Given the description of an element on the screen output the (x, y) to click on. 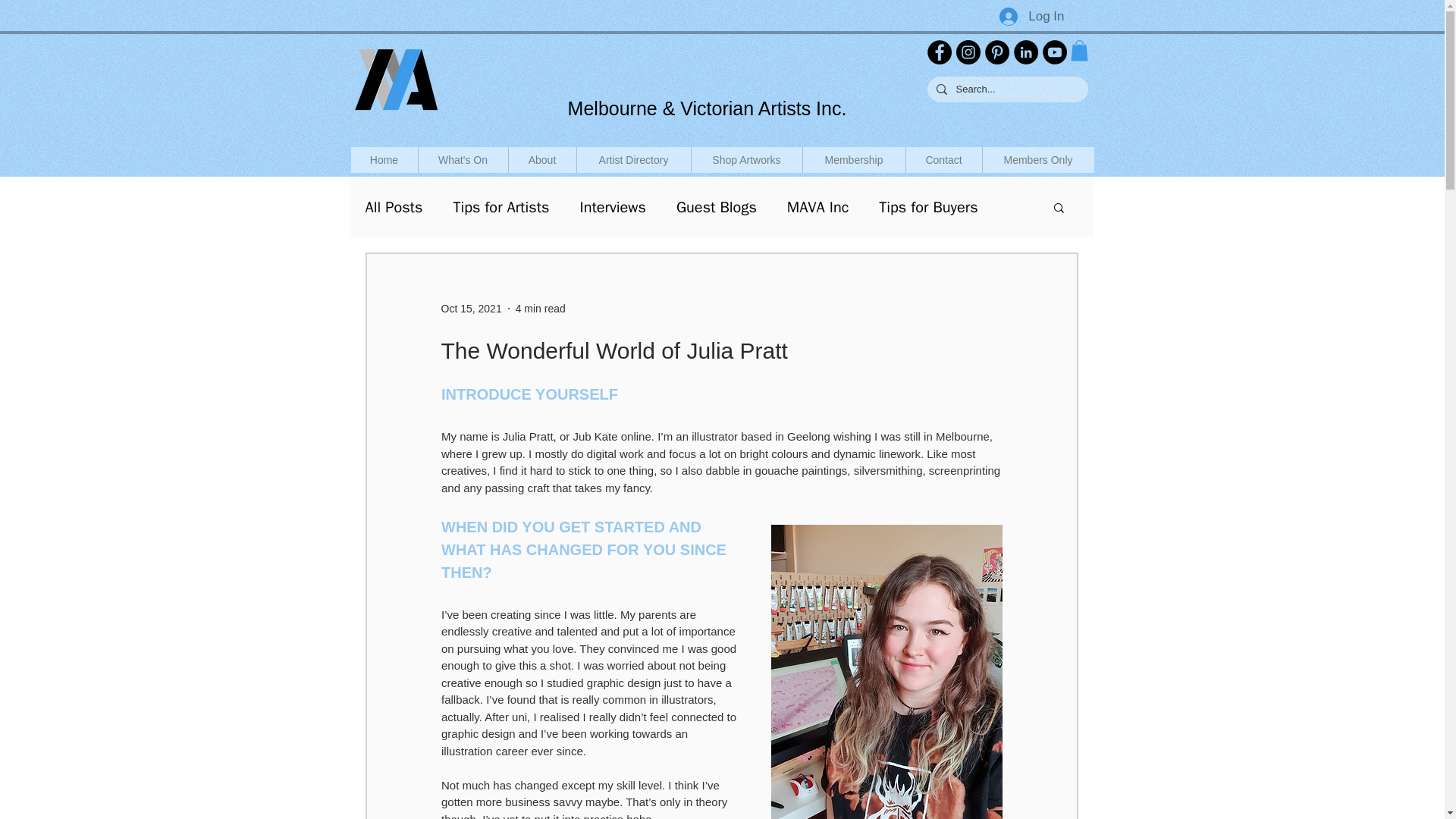
Membership (853, 159)
Home (383, 159)
Interviews (612, 207)
Artist Directory (633, 159)
Guest Blogs (717, 207)
Members Only (1037, 159)
Oct 15, 2021 (471, 308)
All Posts (394, 207)
About (542, 159)
What's On (461, 159)
